Given the description of an element on the screen output the (x, y) to click on. 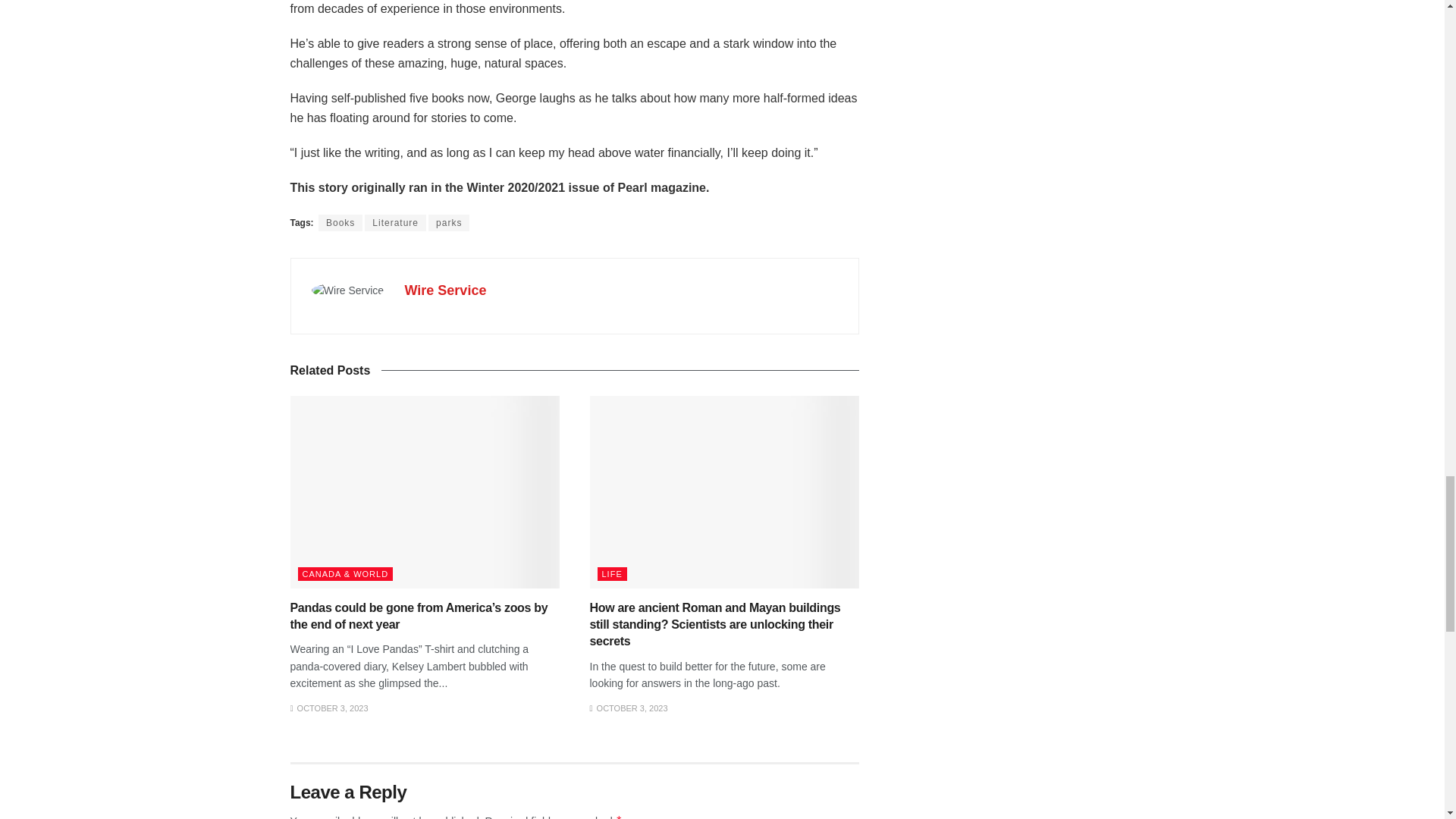
Literature (395, 222)
parks (448, 222)
Books (340, 222)
Wire Service (445, 290)
